Given the description of an element on the screen output the (x, y) to click on. 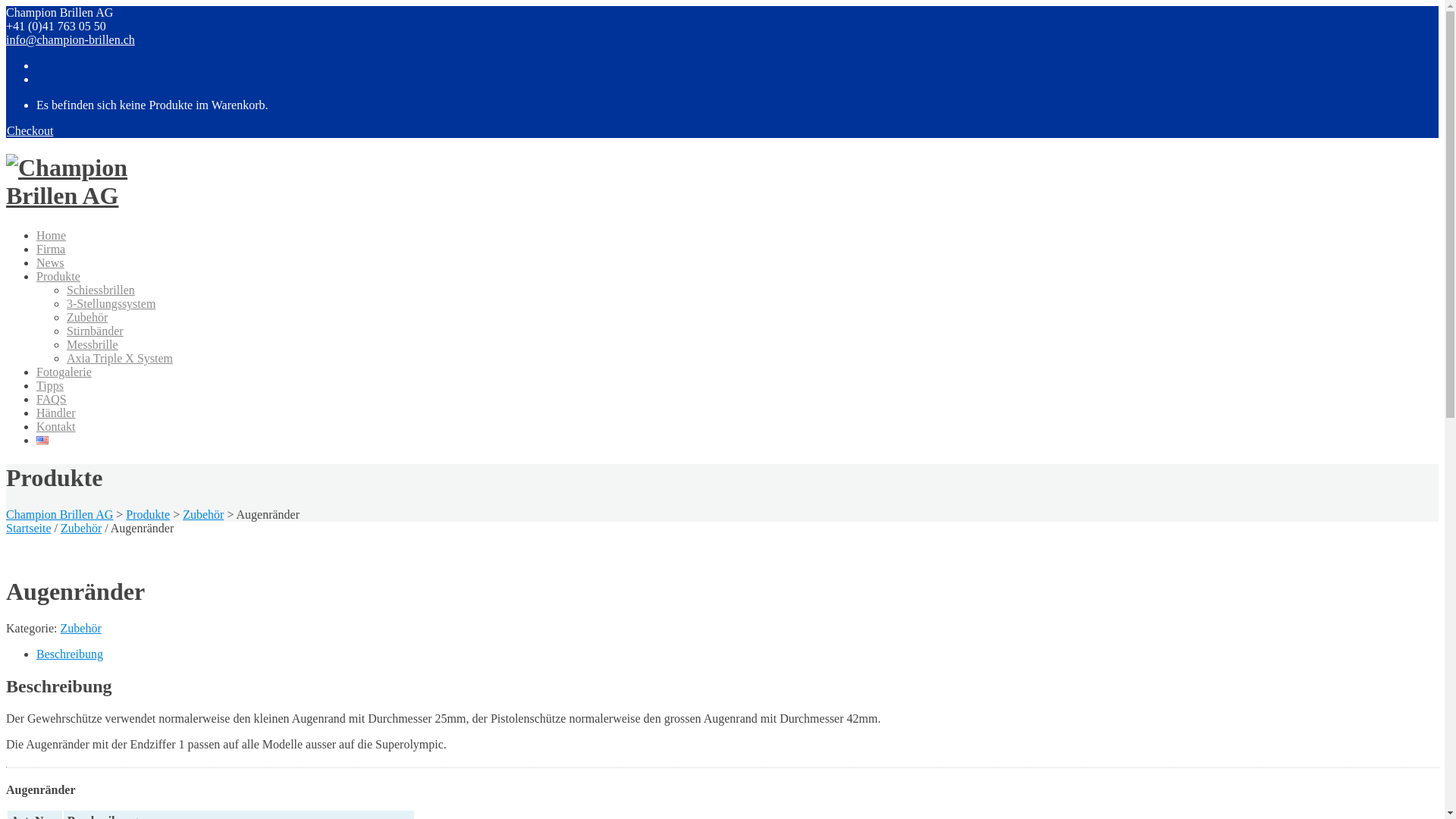
News Element type: text (49, 267)
Champion Brillen AG Element type: text (59, 514)
Beschreibung Element type: text (69, 653)
Firma Element type: text (50, 253)
info@champion-brillen.ch Element type: text (70, 39)
Messbrille Element type: text (92, 349)
3-Stellungssystem Element type: text (110, 308)
Produkte Element type: text (147, 514)
Schiessbrillen Element type: text (100, 294)
Champion Brillen AG Element type: hover (102, 195)
FAQS Element type: text (51, 403)
English Element type: hover (42, 440)
Axia Triple X System Element type: text (119, 362)
Home Element type: text (50, 240)
Fotogalerie Element type: text (63, 376)
Checkout Element type: text (29, 130)
Tipps Element type: text (49, 390)
Produkte Element type: text (58, 280)
Kontakt Element type: text (55, 431)
Startseite Element type: text (28, 527)
